Given the description of an element on the screen output the (x, y) to click on. 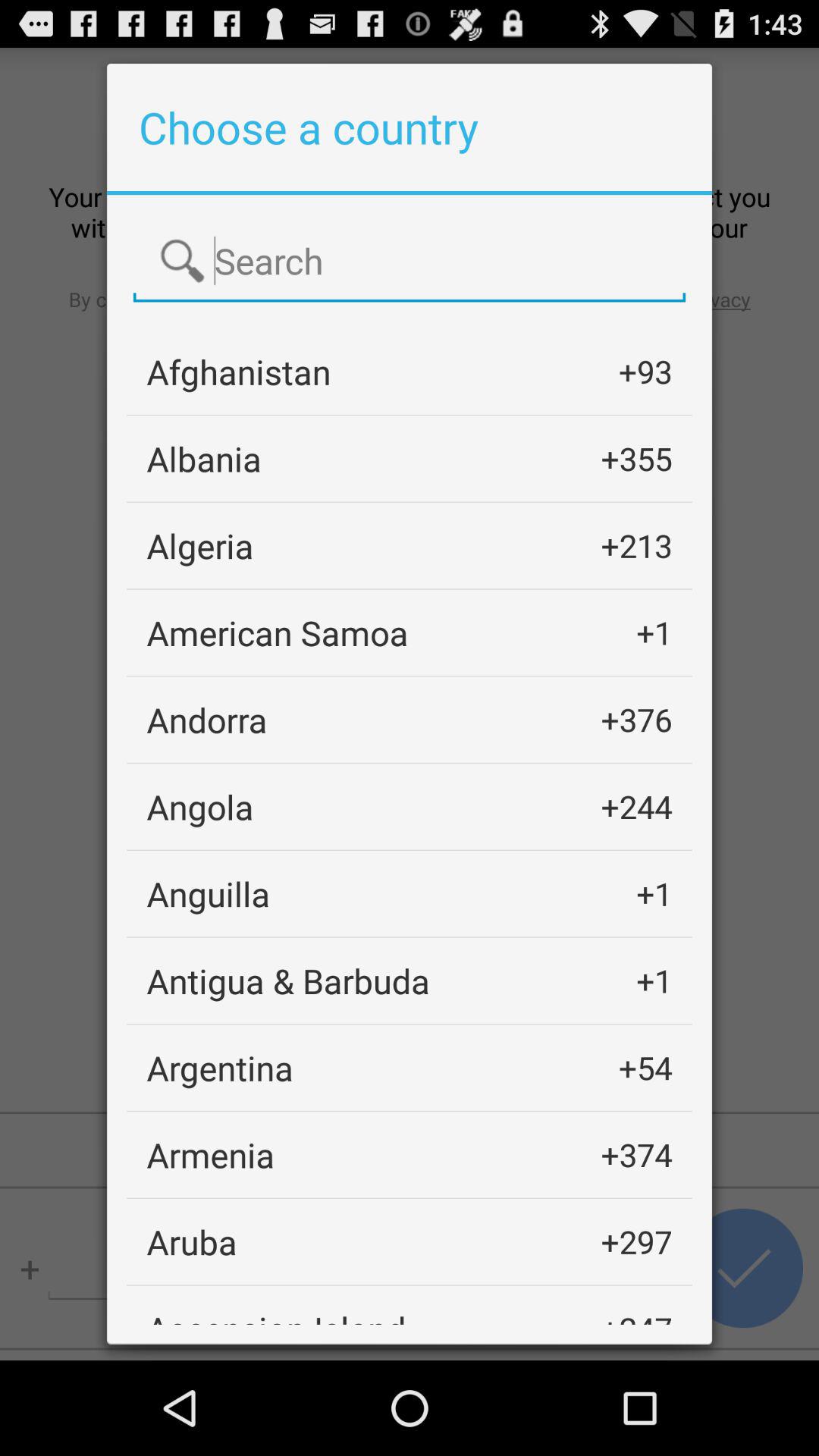
jump to algeria (199, 545)
